Given the description of an element on the screen output the (x, y) to click on. 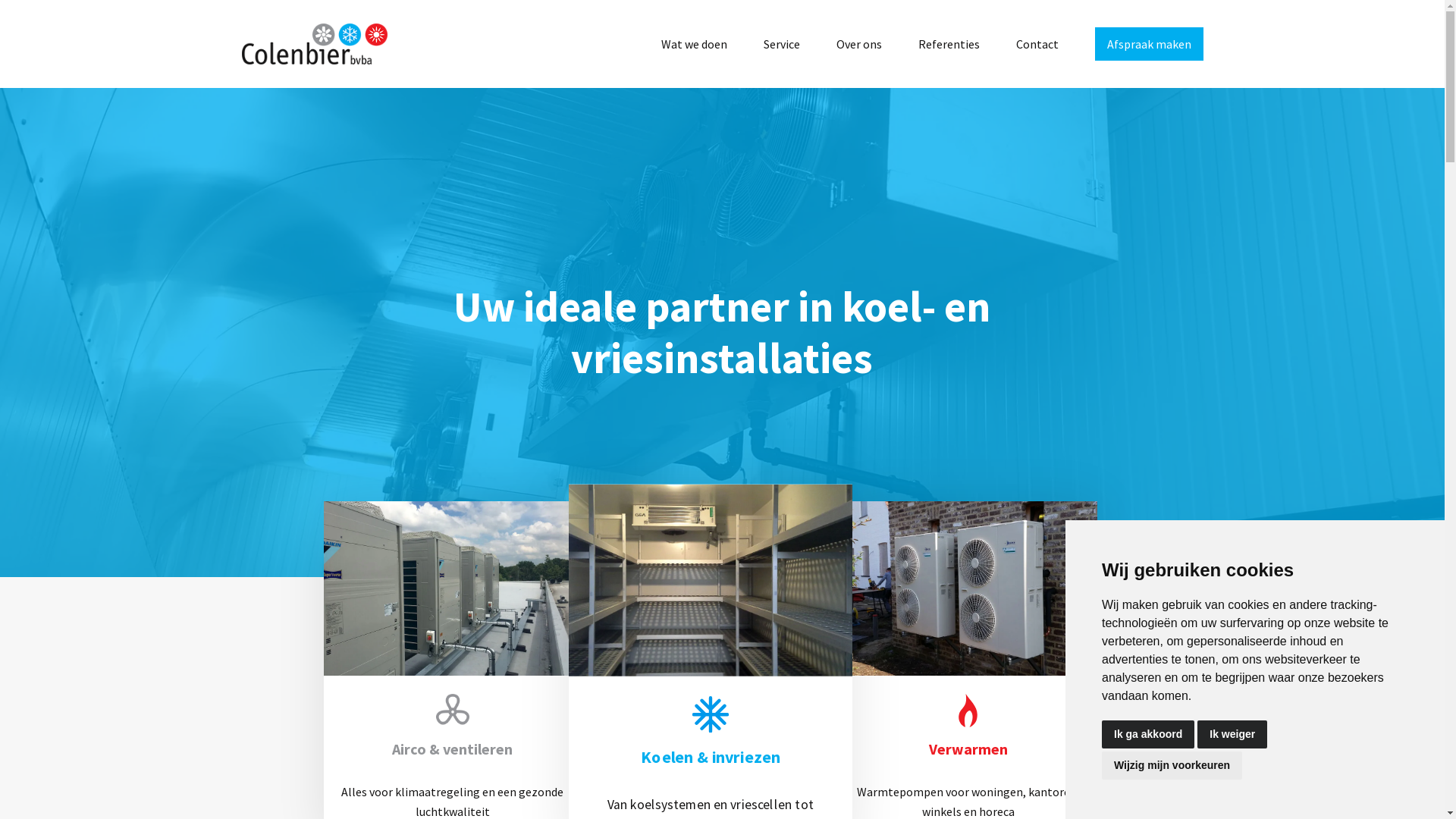
Referenties Element type: text (948, 43)
Service Element type: text (780, 43)
Colenbier Koeltechniek bv Element type: hover (313, 43)
Afspraak maken Element type: text (1149, 43)
Over ons Element type: text (858, 43)
Ik ga akkoord Element type: text (1147, 734)
Wat we doen Element type: text (694, 43)
Ik weiger Element type: text (1232, 734)
Contact Element type: text (1037, 43)
Wijzig mijn voorkeuren Element type: text (1171, 765)
